Given the description of an element on the screen output the (x, y) to click on. 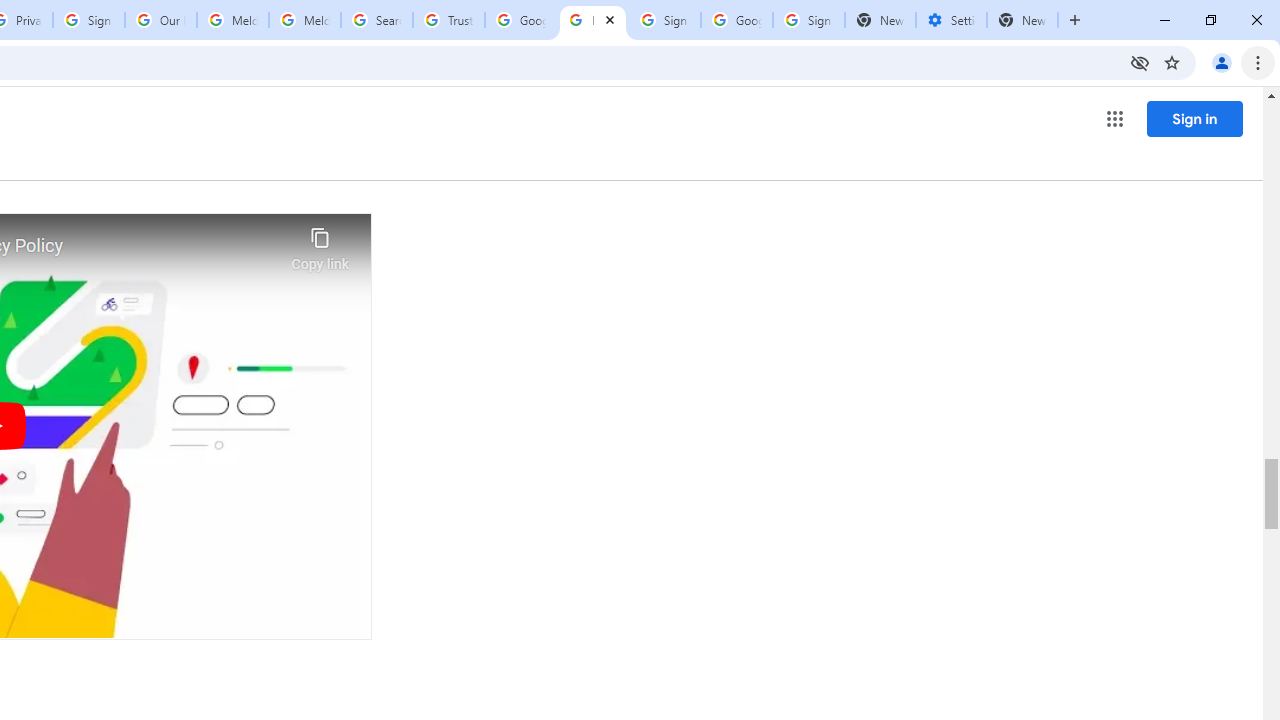
Sign in - Google Accounts (664, 20)
Trusted Information and Content - Google Safety Center (449, 20)
Copy link (319, 244)
Sign in - Google Accounts (88, 20)
